Given the description of an element on the screen output the (x, y) to click on. 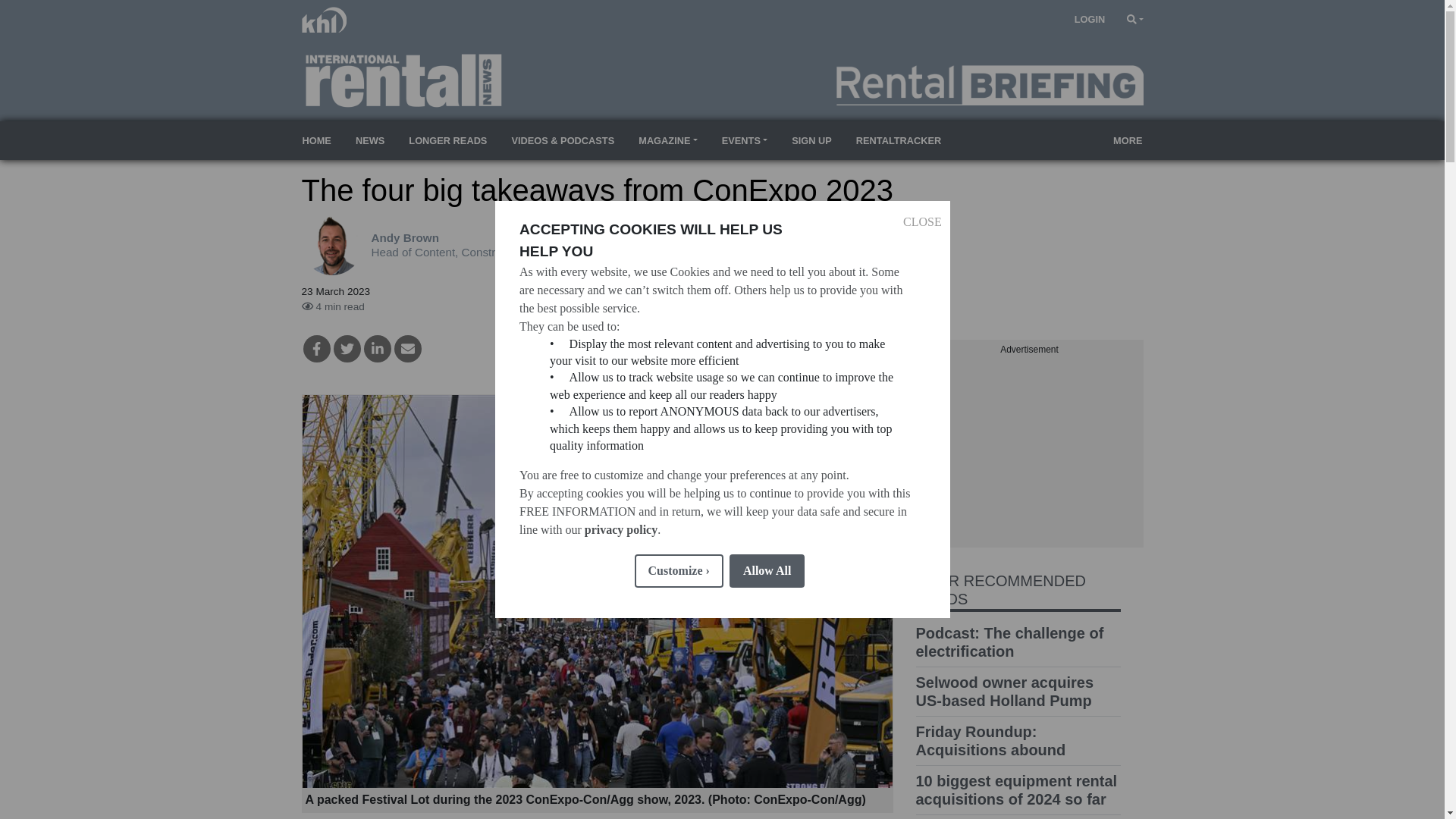
3rd party ad content (1028, 452)
Share this page on Twitter (347, 348)
Share this page via email (408, 348)
Share this page on Linkedin (377, 348)
Share this page on Facebook (316, 348)
